Given the description of an element on the screen output the (x, y) to click on. 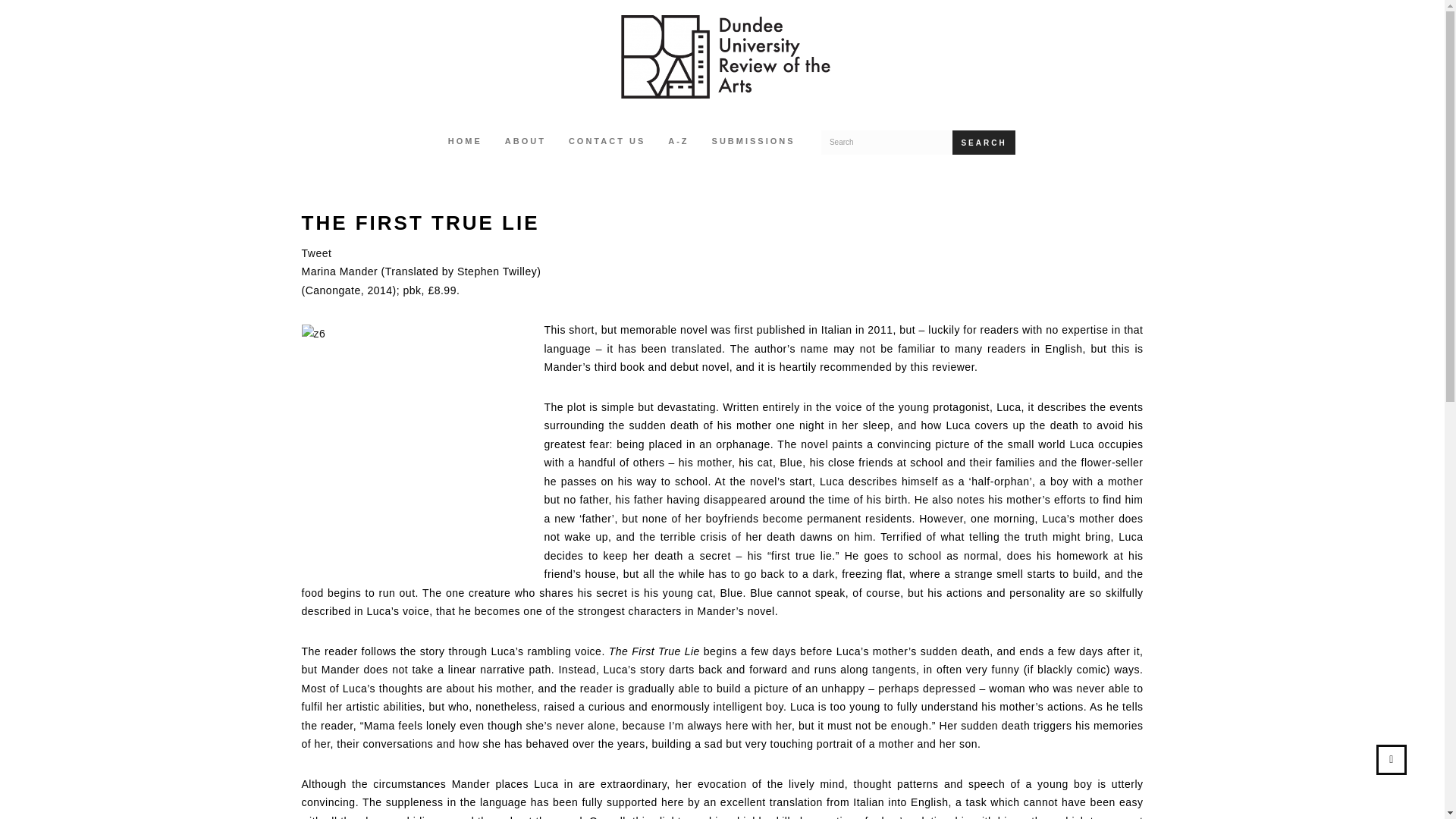
SUBMISSIONS (753, 142)
Tweet (316, 253)
A-Z (678, 142)
ABOUT (525, 142)
HOME (464, 142)
CONTACT US (606, 142)
SEARCH (983, 142)
